Given the description of an element on the screen output the (x, y) to click on. 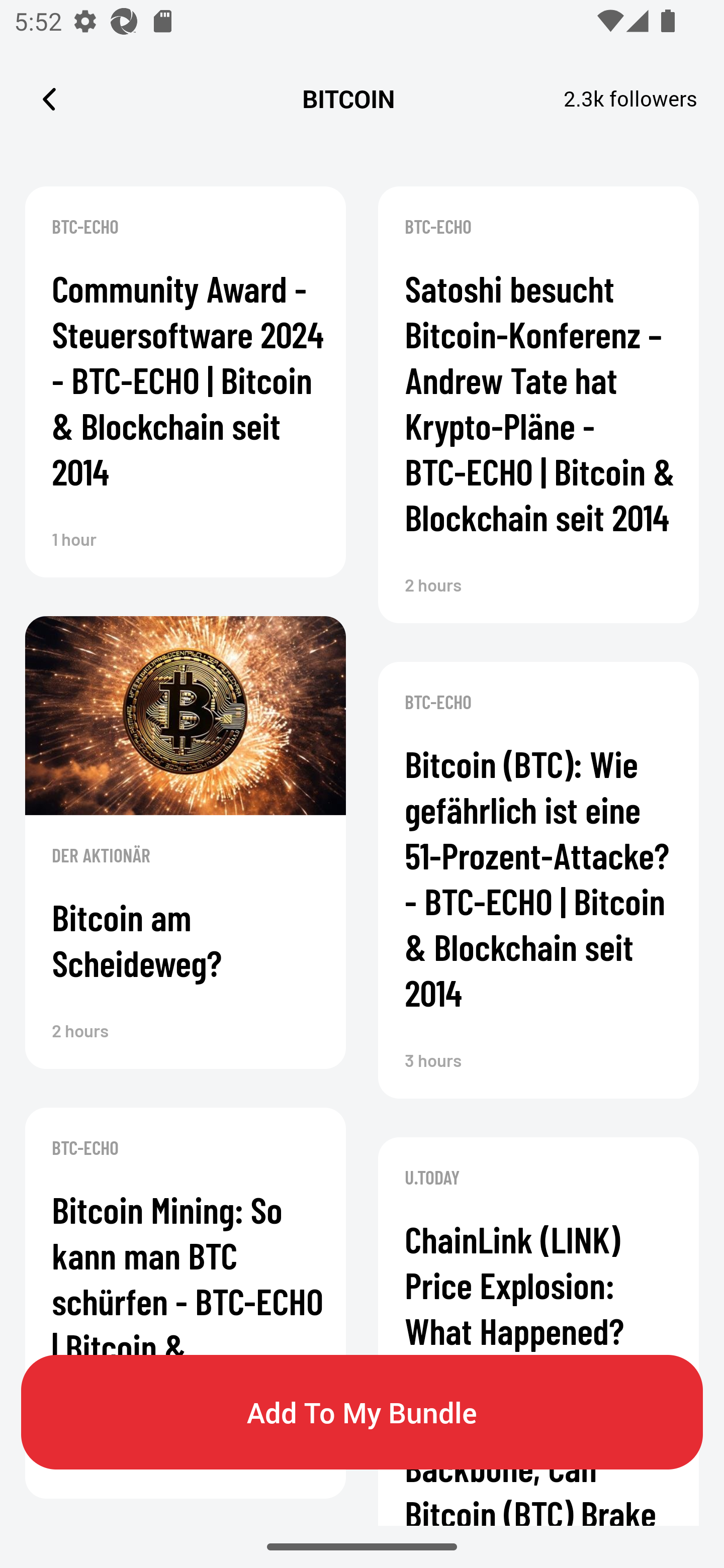
Leading Icon (49, 98)
Add To My Bundle (361, 1411)
